Given the description of an element on the screen output the (x, y) to click on. 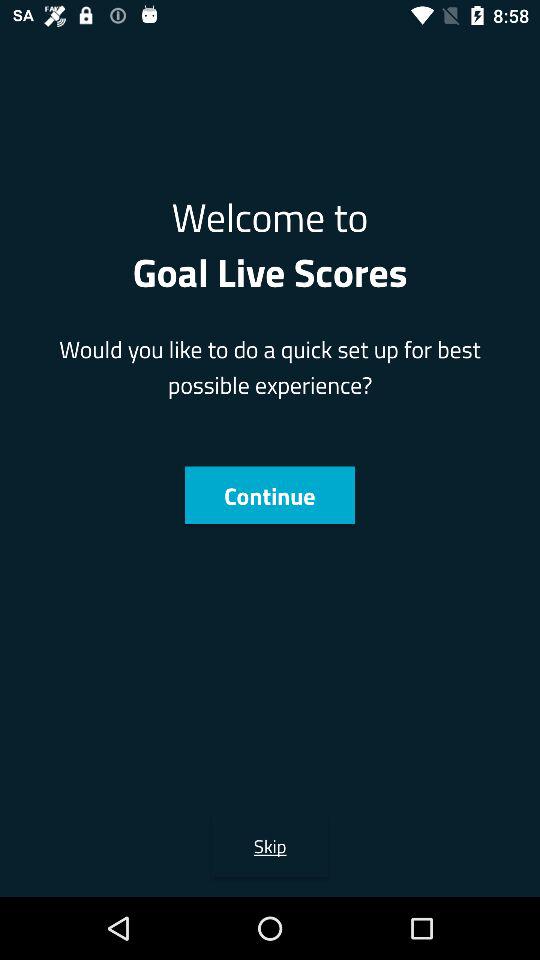
choose the icon below the continue item (269, 845)
